Given the description of an element on the screen output the (x, y) to click on. 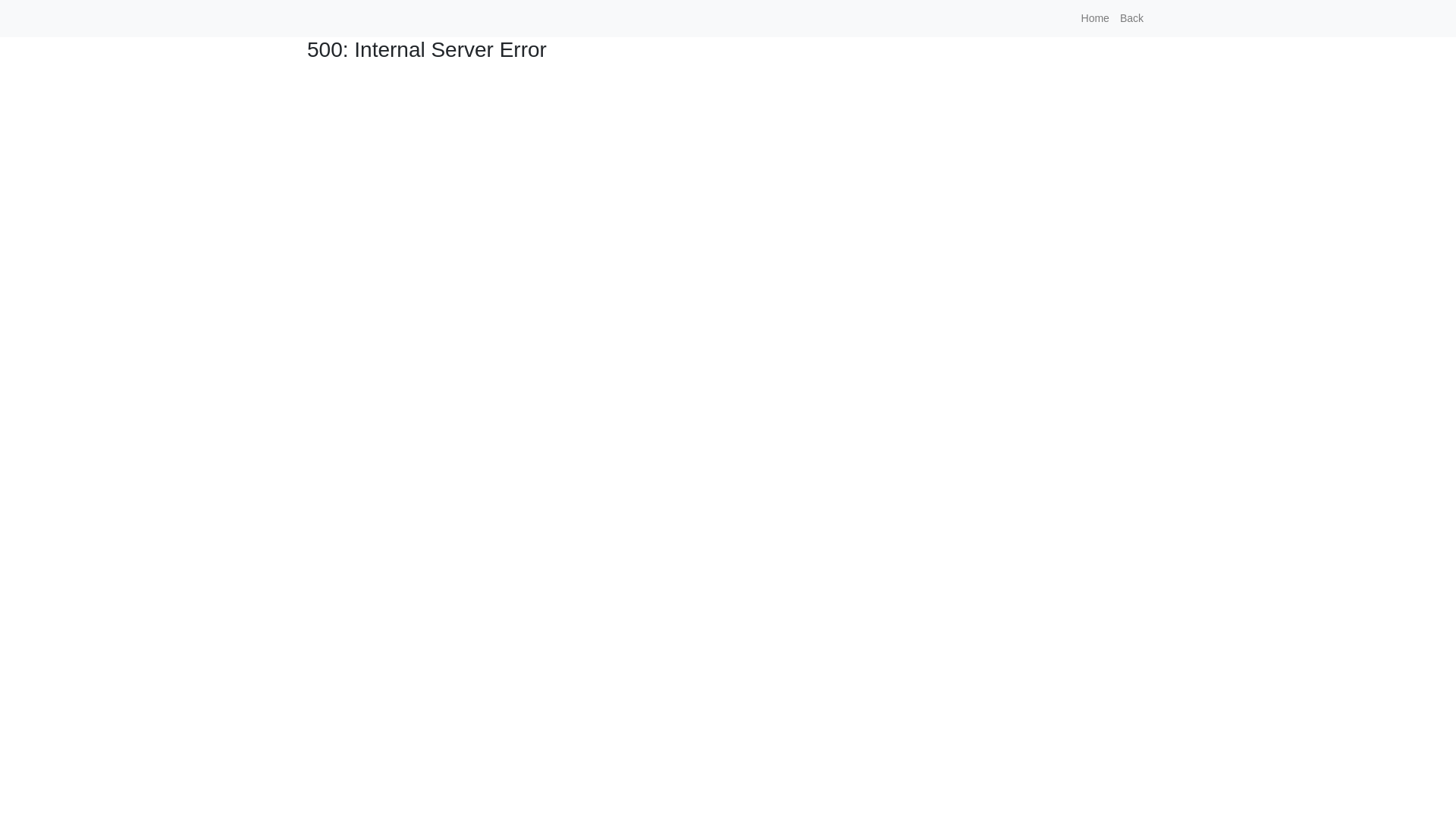
Home Element type: text (1095, 18)
Back Element type: text (1131, 18)
